Given the description of an element on the screen output the (x, y) to click on. 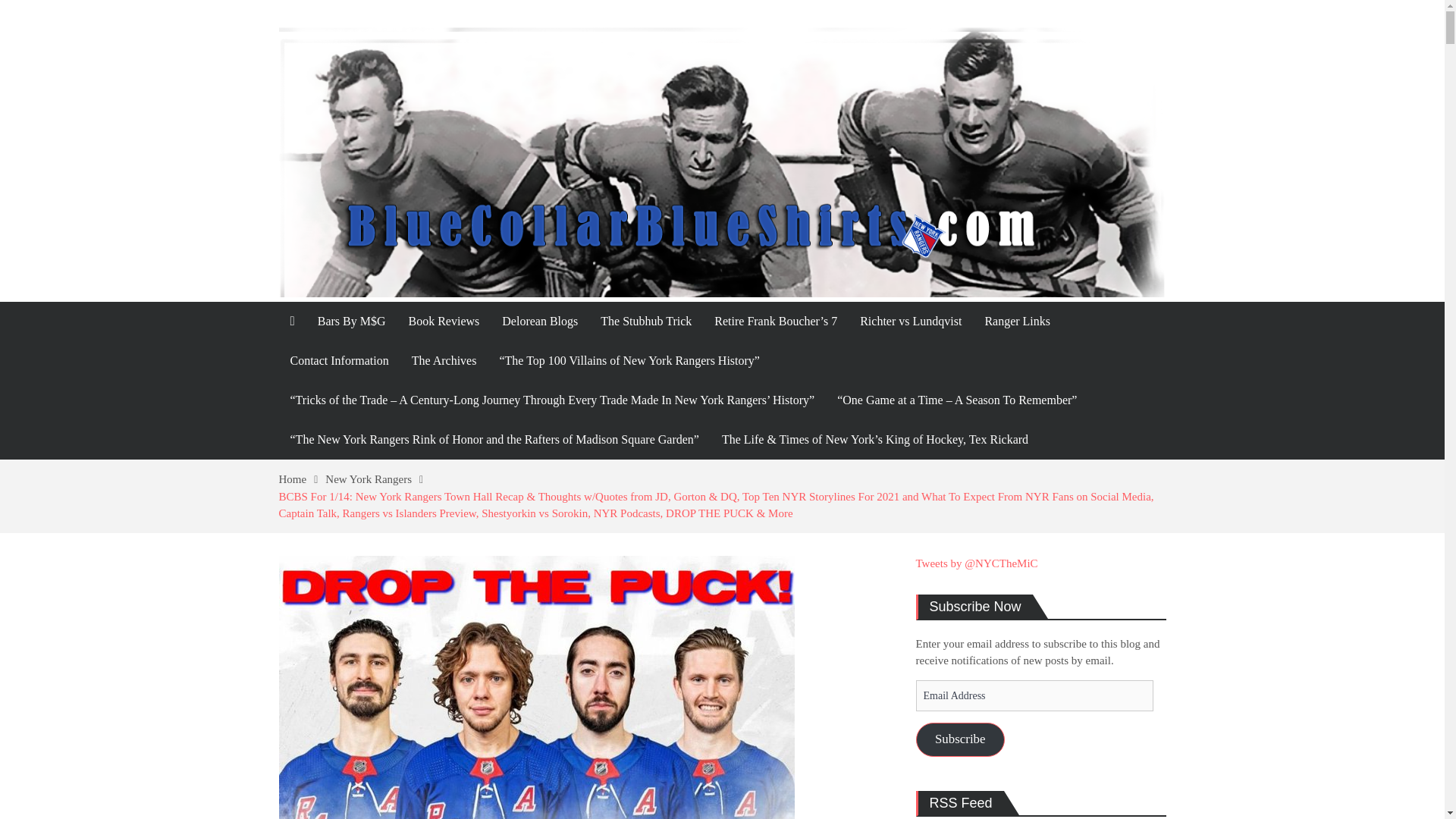
Delorean Blogs (539, 321)
Ranger Links (1016, 321)
Contact Information (339, 360)
Richter vs Lundqvist (910, 321)
New York Rangers (377, 479)
The Archives (443, 360)
The Stubhub Trick (646, 321)
Home (302, 479)
Book Reviews (444, 321)
